Given the description of an element on the screen output the (x, y) to click on. 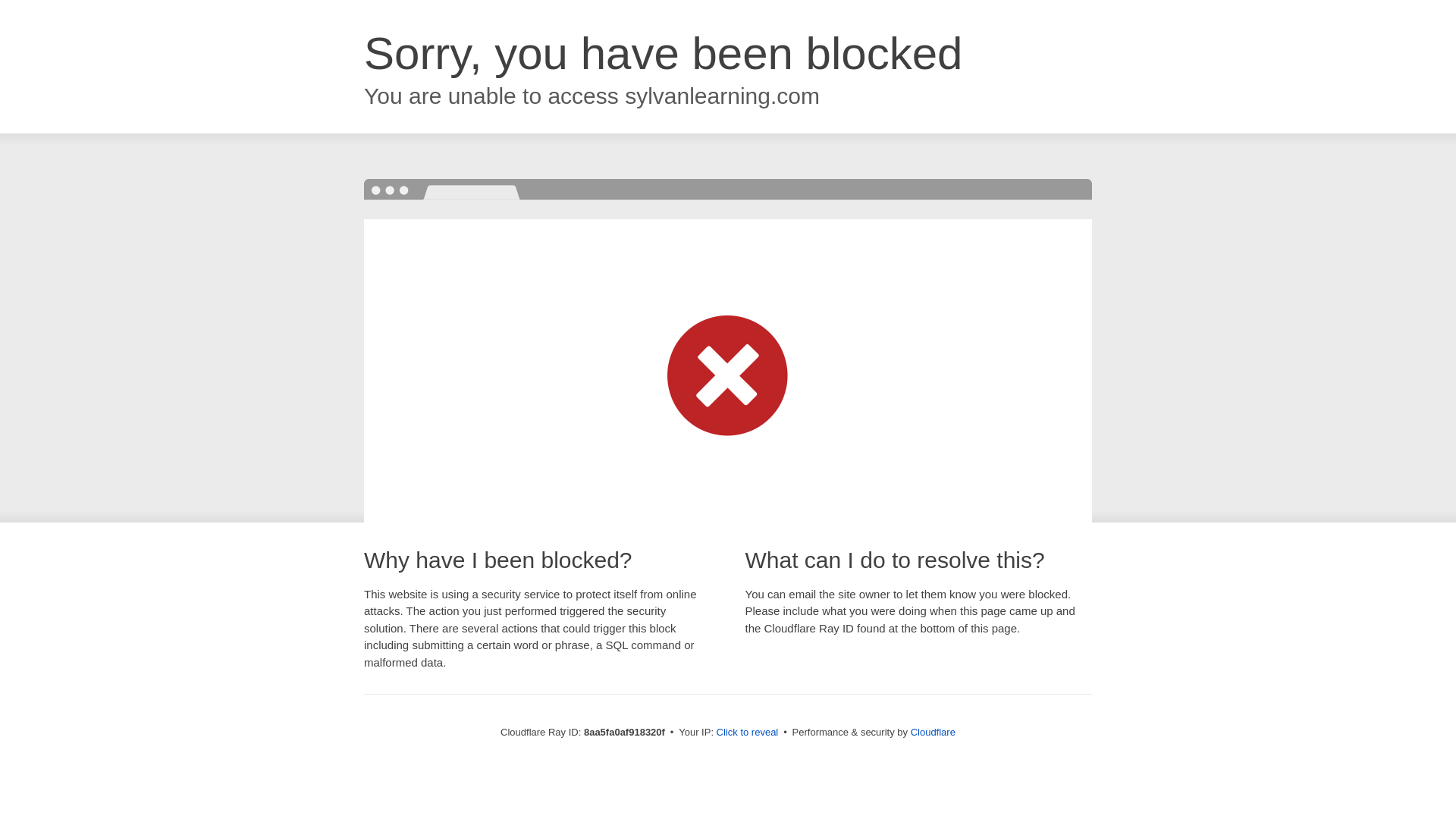
Click to reveal (747, 732)
Cloudflare (933, 731)
